Given the description of an element on the screen output the (x, y) to click on. 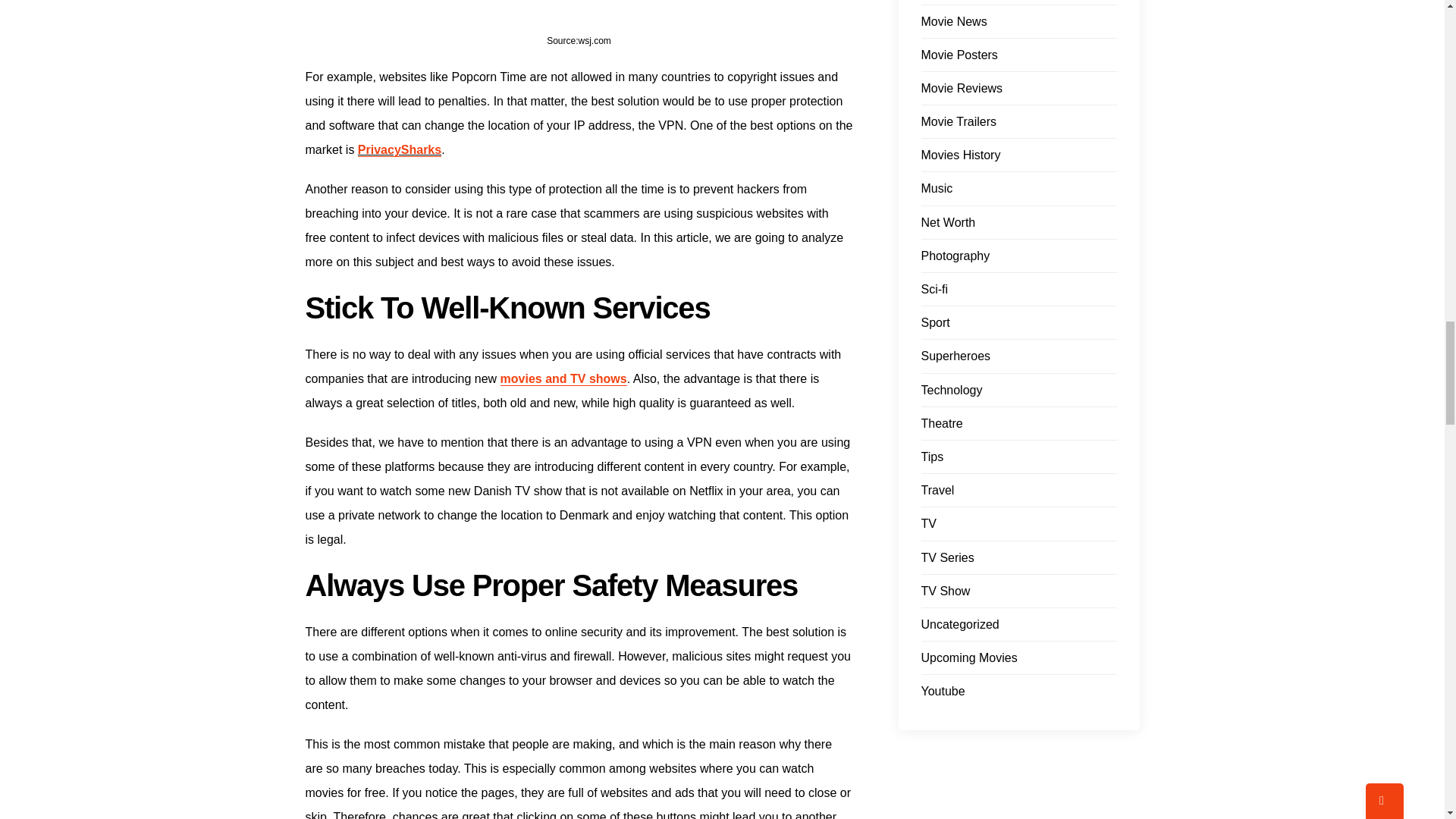
PrivacySharks (399, 150)
movies and TV shows (563, 378)
